Given the description of an element on the screen output the (x, y) to click on. 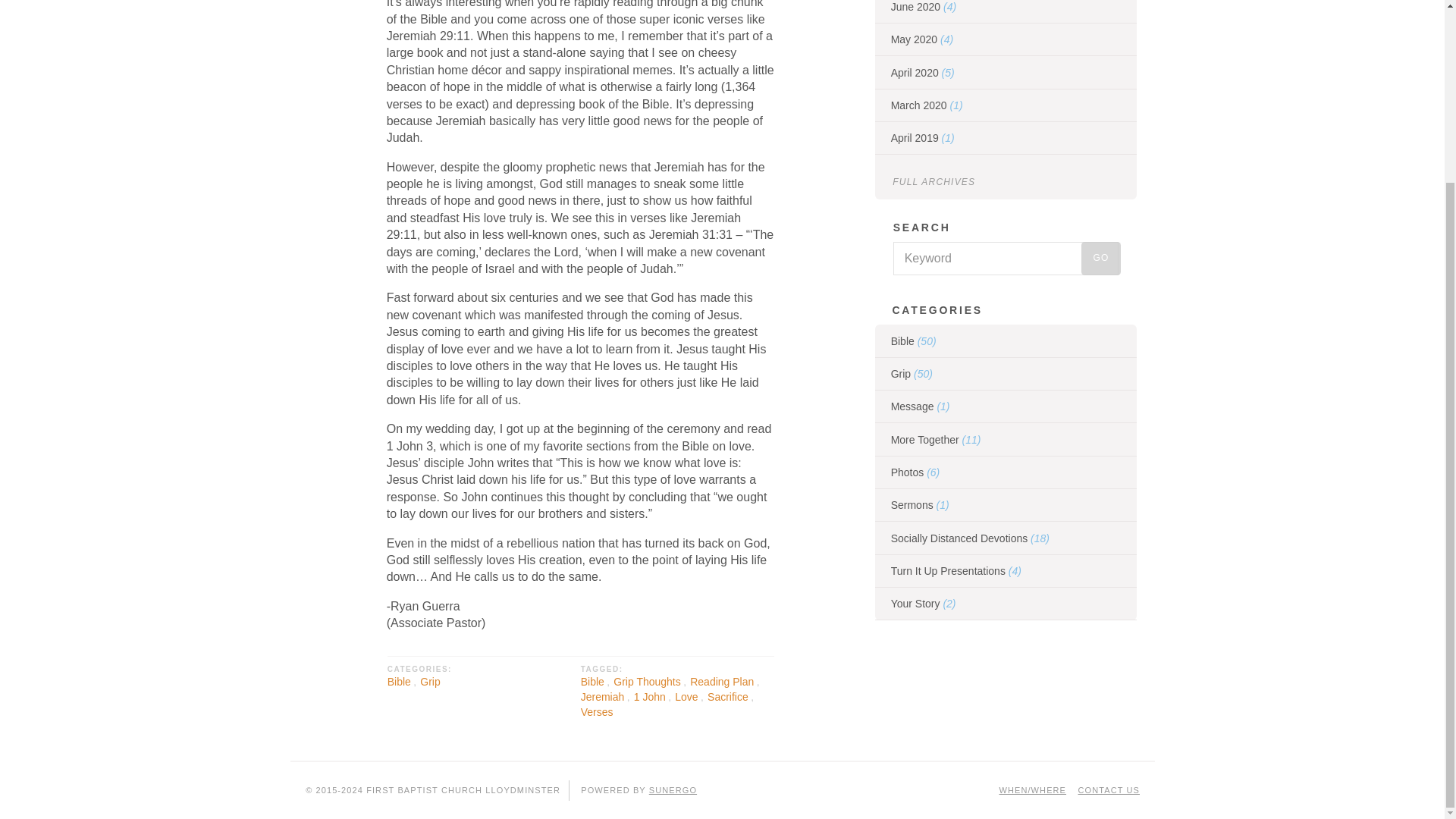
GO (1100, 258)
